Given the description of an element on the screen output the (x, y) to click on. 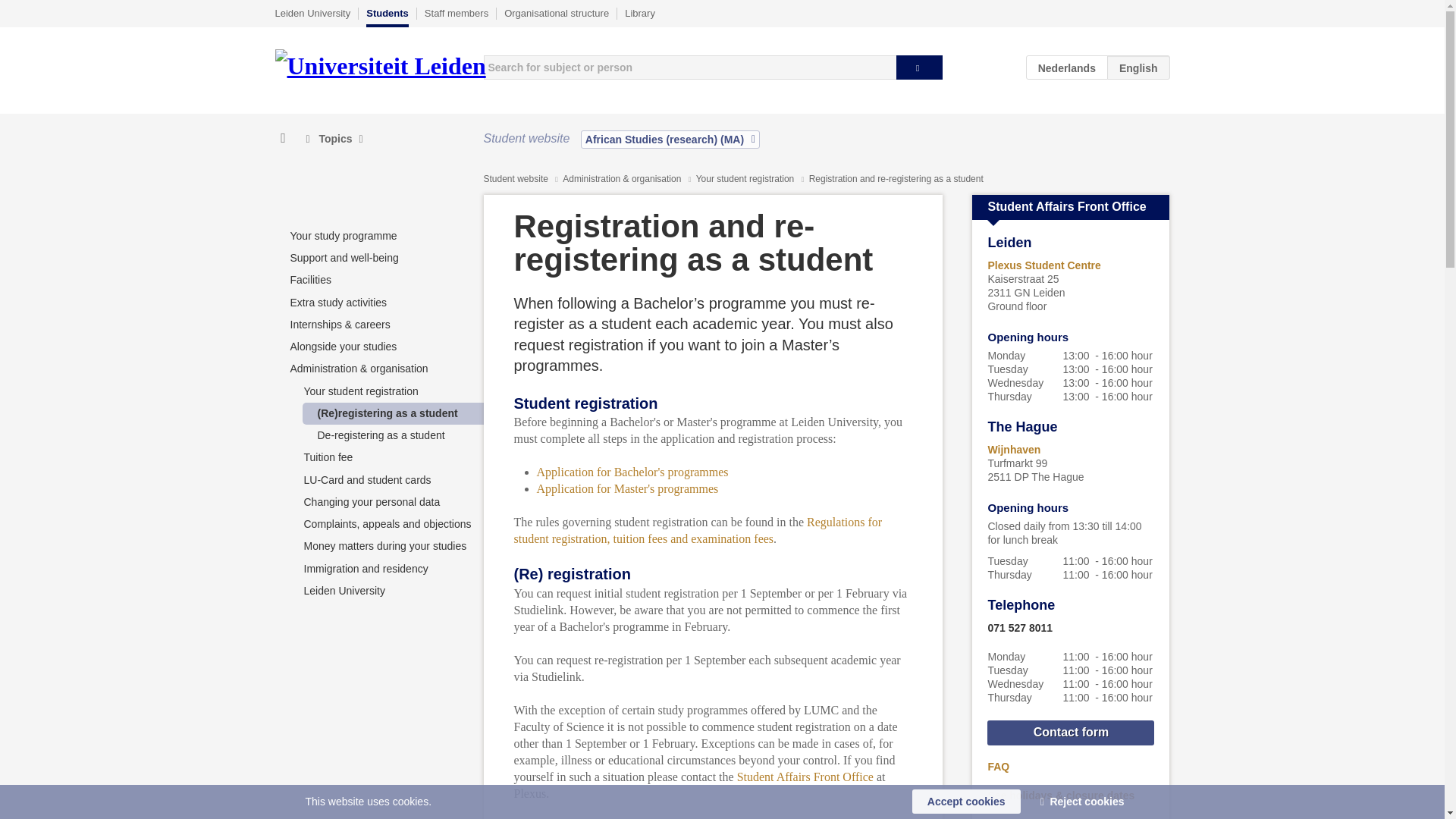
Students (387, 17)
NL (1067, 67)
Search (919, 67)
Library (639, 13)
Your study programme (342, 235)
Organisational structure (555, 13)
Leiden University (312, 13)
Your student registration (745, 178)
Student website (515, 178)
Your study programme (342, 235)
Topics (333, 139)
Staff members (456, 13)
